Given the description of an element on the screen output the (x, y) to click on. 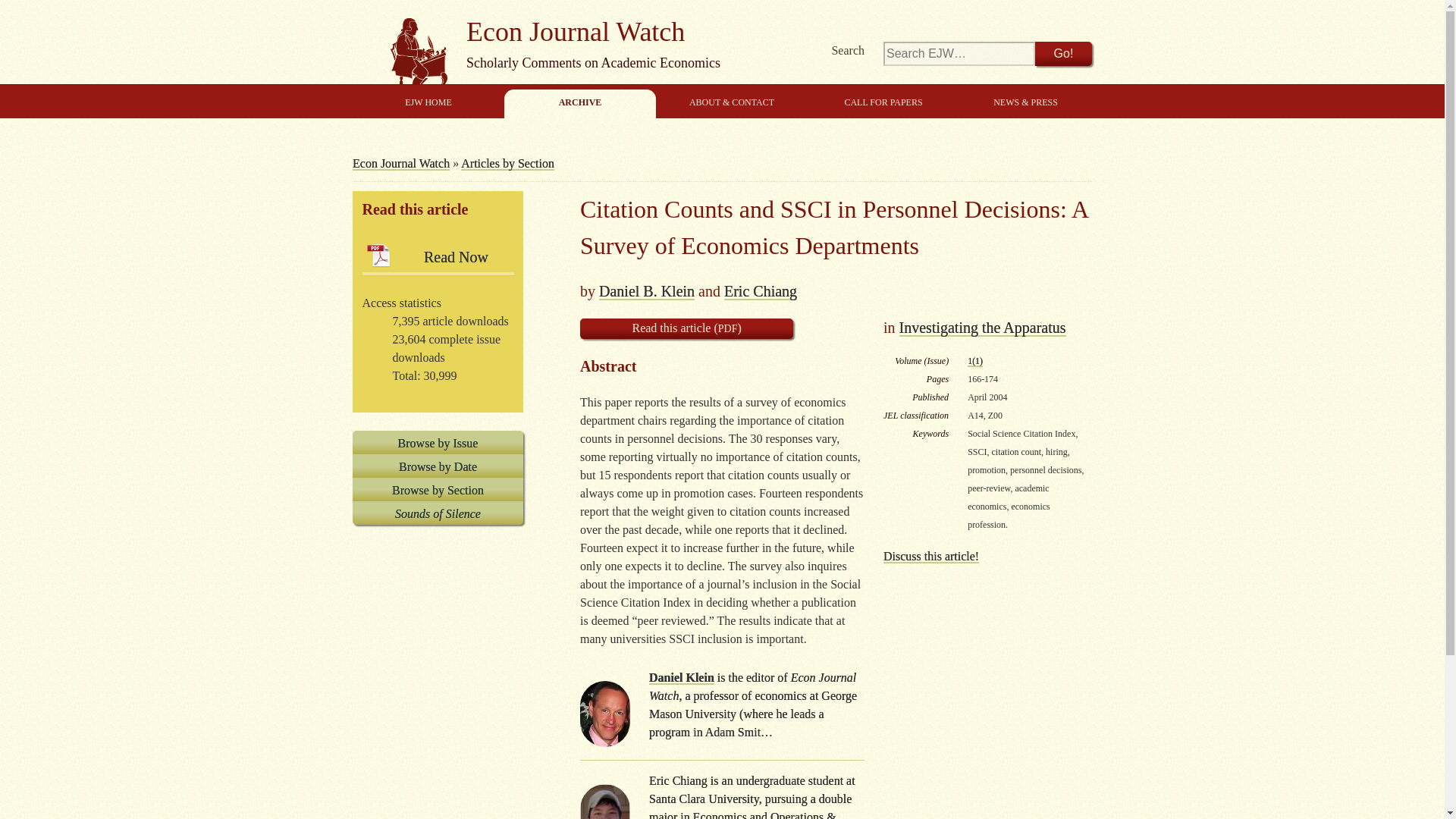
Econ Journal Watch (400, 162)
Econ Journal Watch (589, 51)
Go! (1063, 53)
Econ Journal Watch (589, 51)
Portable Document Format (727, 328)
Browse by Issue (437, 442)
Read Now (437, 256)
EJW HOME (427, 103)
Eric Chiang (759, 290)
Investigating the Apparatus (982, 326)
Articles by Section (507, 162)
CALL FOR PAPERS (883, 103)
Daniel B. Klein (646, 290)
Browse by Section (437, 489)
Discuss this article! (930, 555)
